Given the description of an element on the screen output the (x, y) to click on. 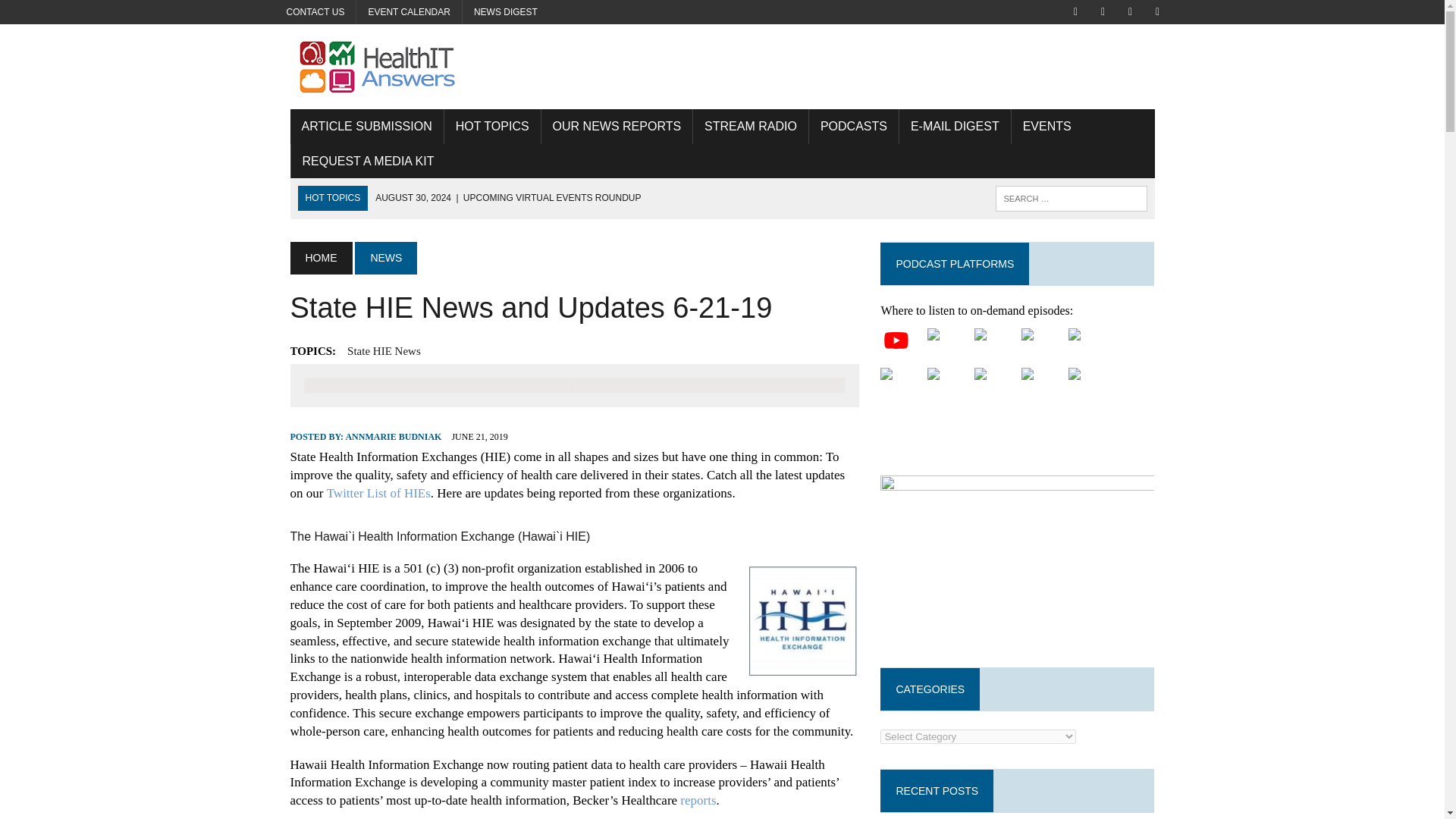
NEWS (385, 257)
CONTACT US (315, 12)
HOME (320, 257)
Health IT Answers (721, 66)
ARTICLE SUBMISSION (365, 126)
EVENTS (1047, 126)
Amazon-Music (903, 379)
Search (75, 14)
Twitter List of HIEs (378, 493)
Audible (1045, 340)
